Given the description of an element on the screen output the (x, y) to click on. 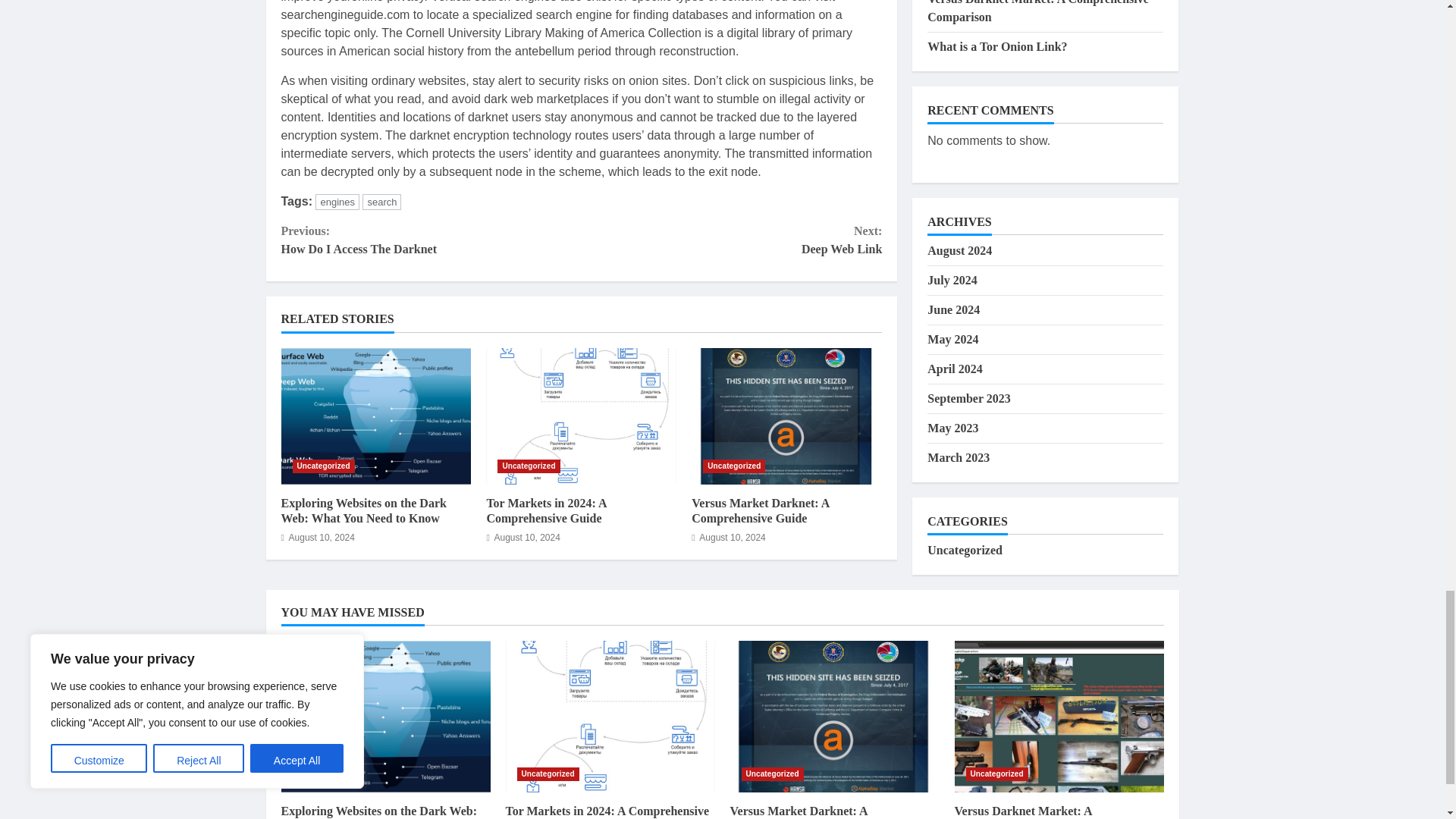
Uncategorized (528, 466)
engines (337, 201)
Tor Markets in 2024: A Comprehensive Guide (545, 510)
Versus Market Darknet: A Comprehensive Guide (786, 416)
Exploring Websites on the Dark Web: What You Need to Know (375, 416)
search (381, 201)
Tor Markets in 2024: A Comprehensive Guide (581, 416)
Exploring Websites on the Dark Web: What You Need to Know (363, 510)
Uncategorized (323, 466)
